Given the description of an element on the screen output the (x, y) to click on. 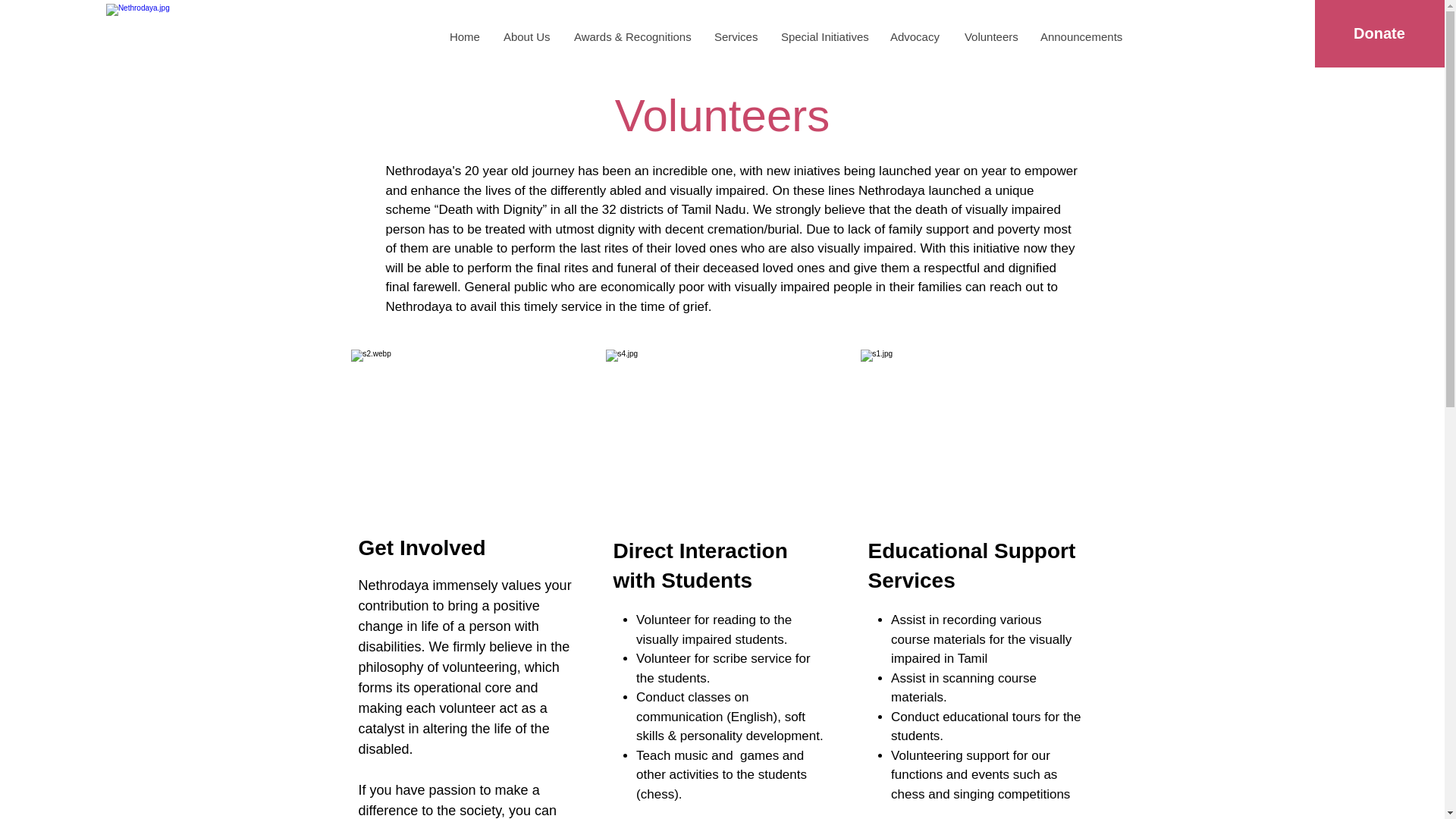
Special Initiatives (822, 36)
Volunteers (989, 36)
Advocacy (914, 36)
Home (465, 36)
Announcements (1079, 36)
Donate (1378, 33)
Services (734, 36)
About Us (527, 36)
